Given the description of an element on the screen output the (x, y) to click on. 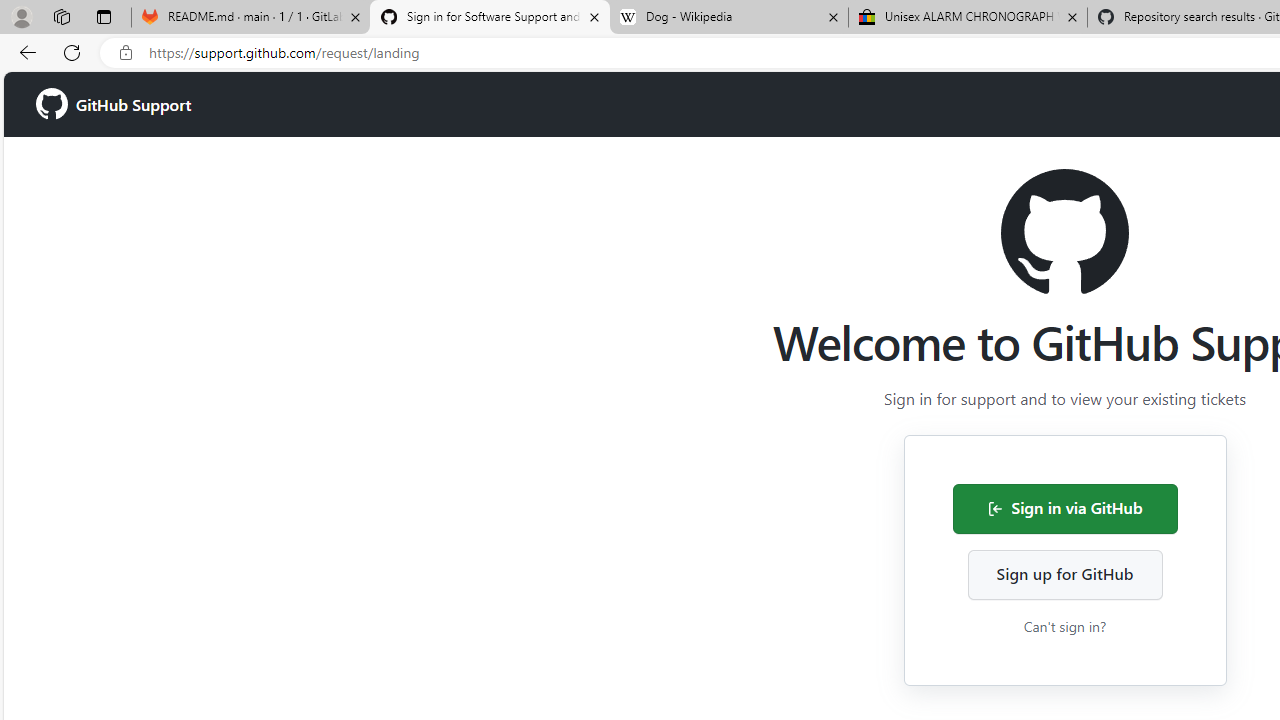
Can't sign in? (1064, 625)
Dog - Wikipedia (729, 17)
Sign up for GitHub (1064, 573)
GitHub Support (113, 103)
Sign in via GitHub (1064, 508)
